Given the description of an element on the screen output the (x, y) to click on. 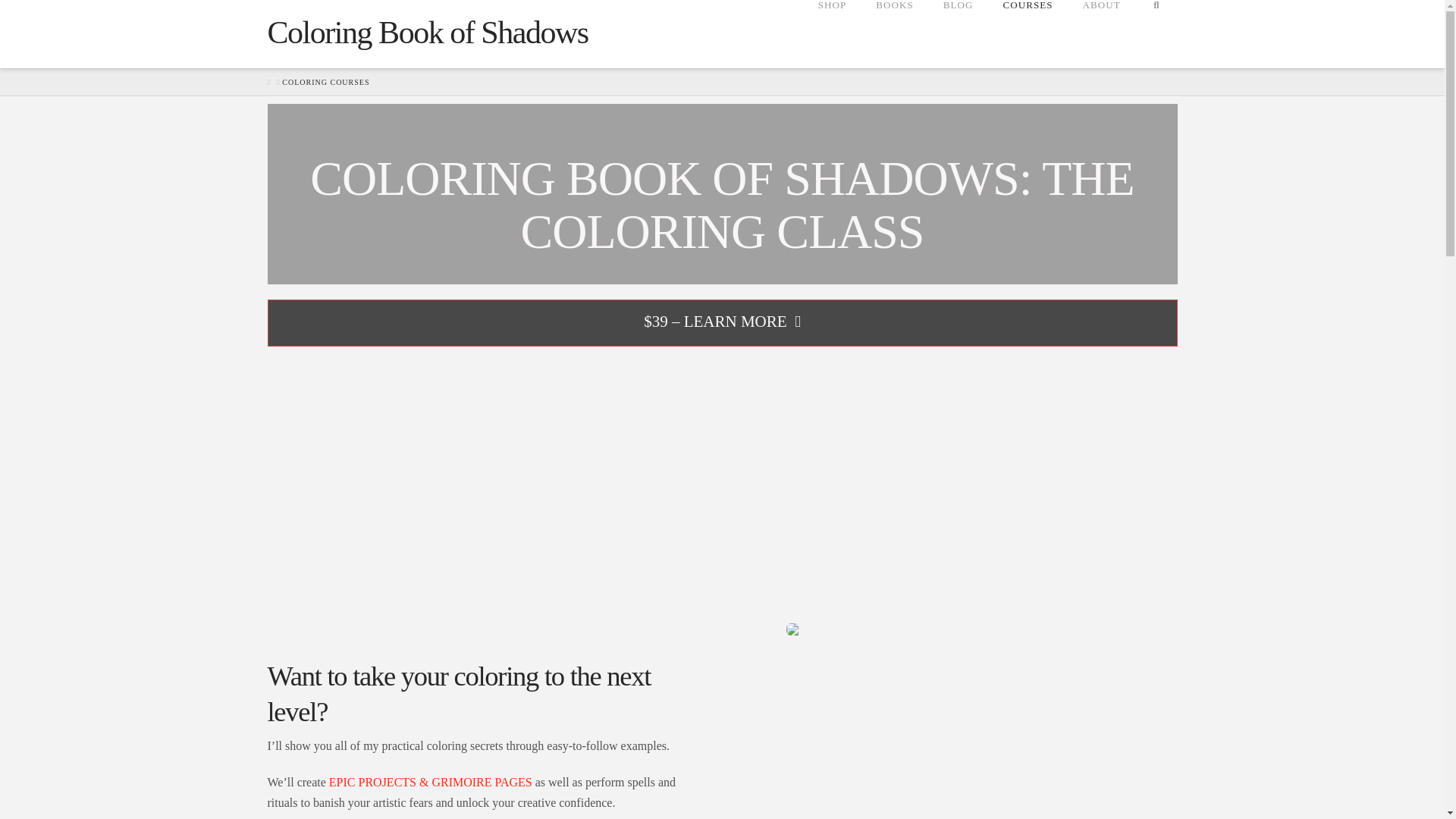
ABOUT (1101, 33)
COLORING COURSES (325, 81)
BOOKS (894, 33)
You Are Here (325, 81)
Coloring Book of Shadows (427, 32)
COURSES (1027, 33)
